Given the description of an element on the screen output the (x, y) to click on. 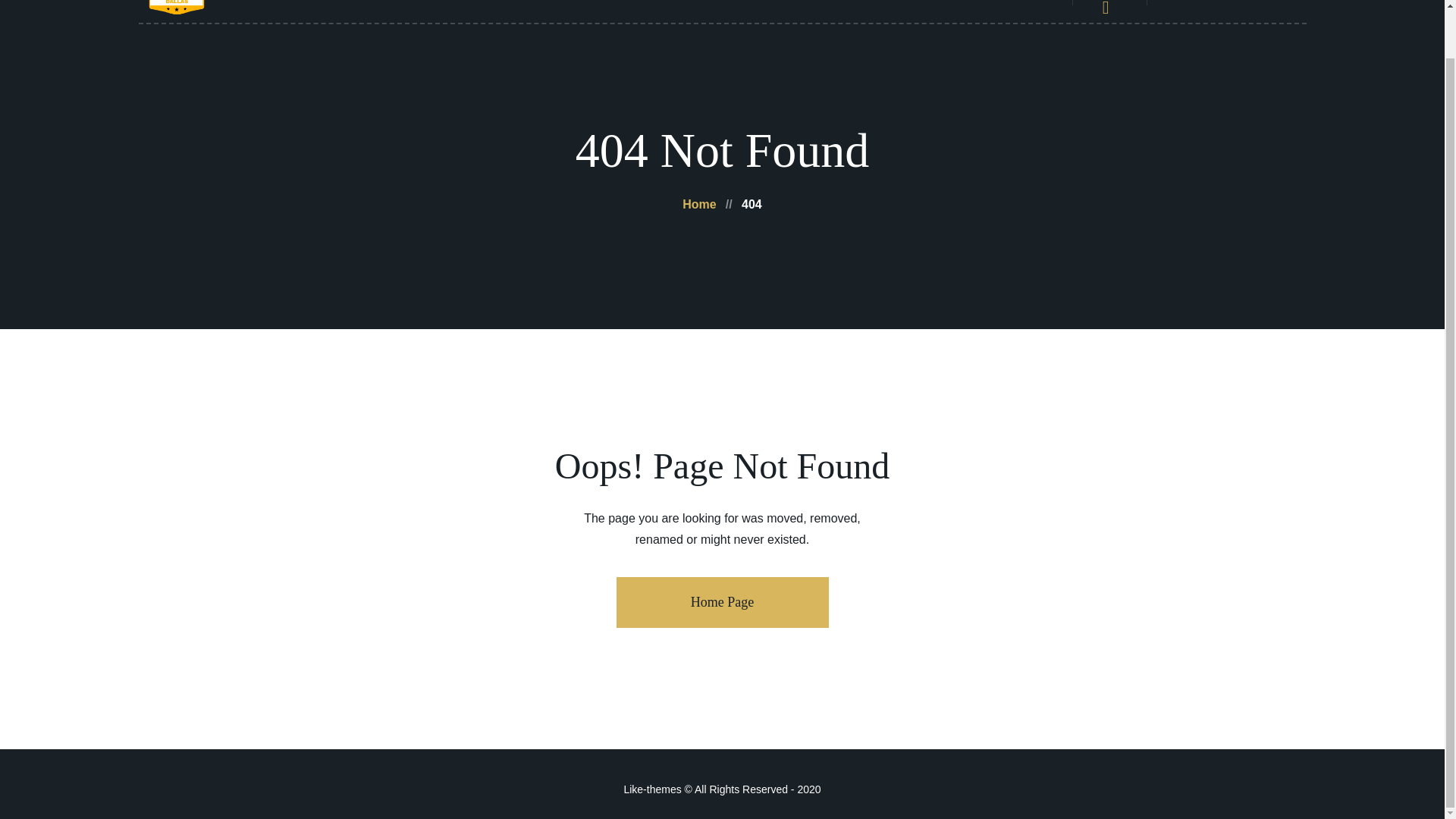
Go to Home. (699, 204)
Home Page (721, 602)
Home (699, 204)
